Given the description of an element on the screen output the (x, y) to click on. 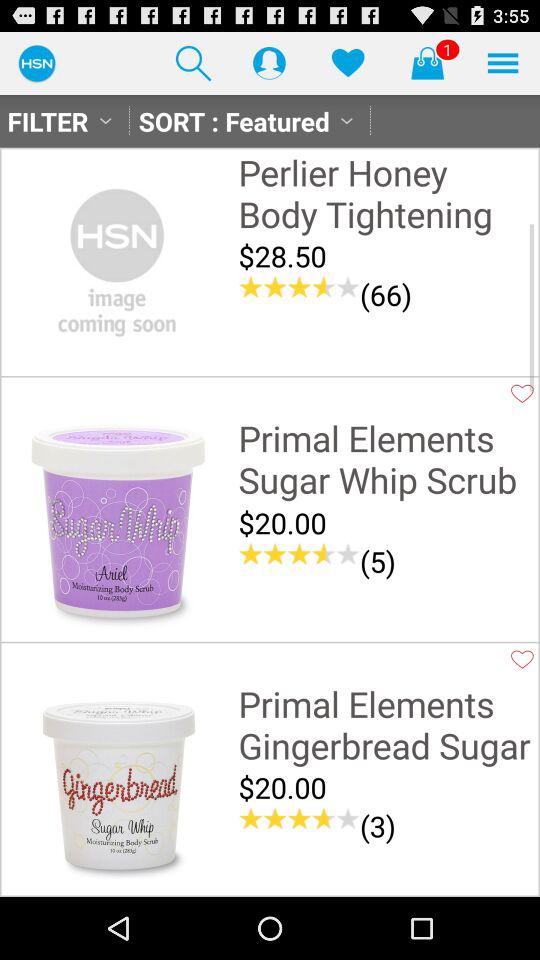
save product (522, 393)
